Given the description of an element on the screen output the (x, y) to click on. 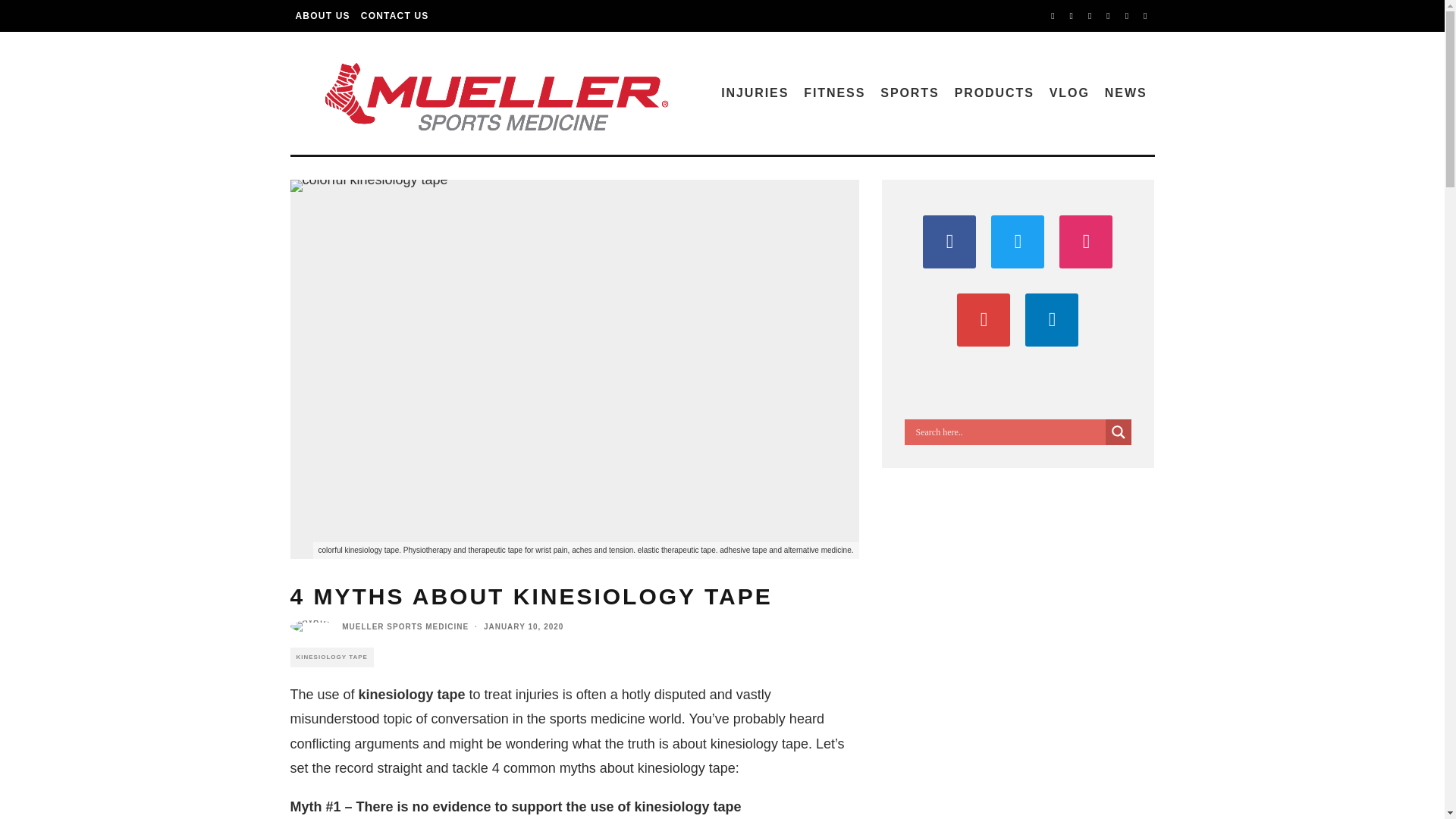
INJURIES (754, 93)
ABOUT US (322, 15)
FITNESS (834, 93)
SPORTS (909, 93)
CONTACT US (394, 15)
